Given the description of an element on the screen output the (x, y) to click on. 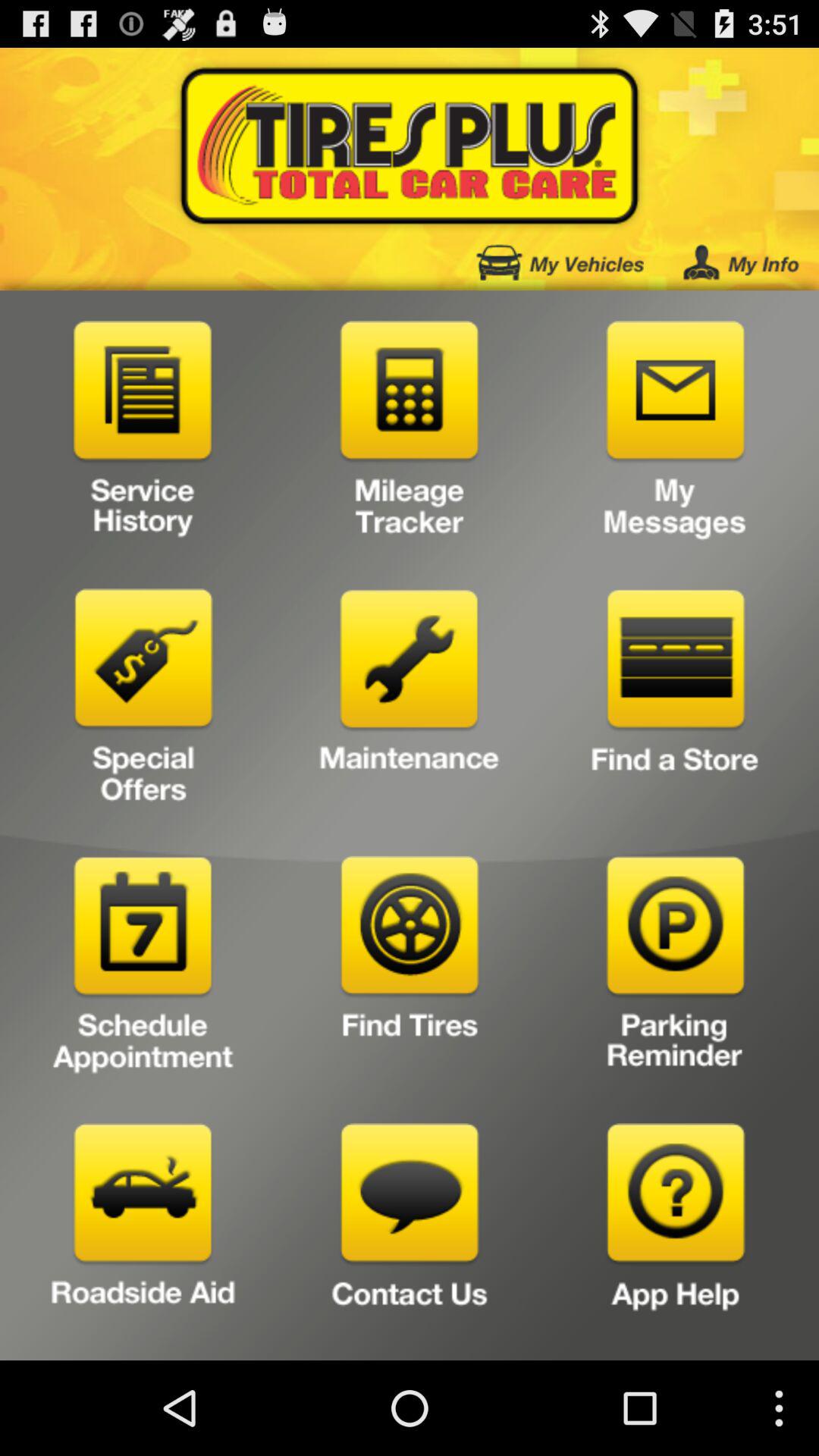
find nearest store to you with address (675, 701)
